Given the description of an element on the screen output the (x, y) to click on. 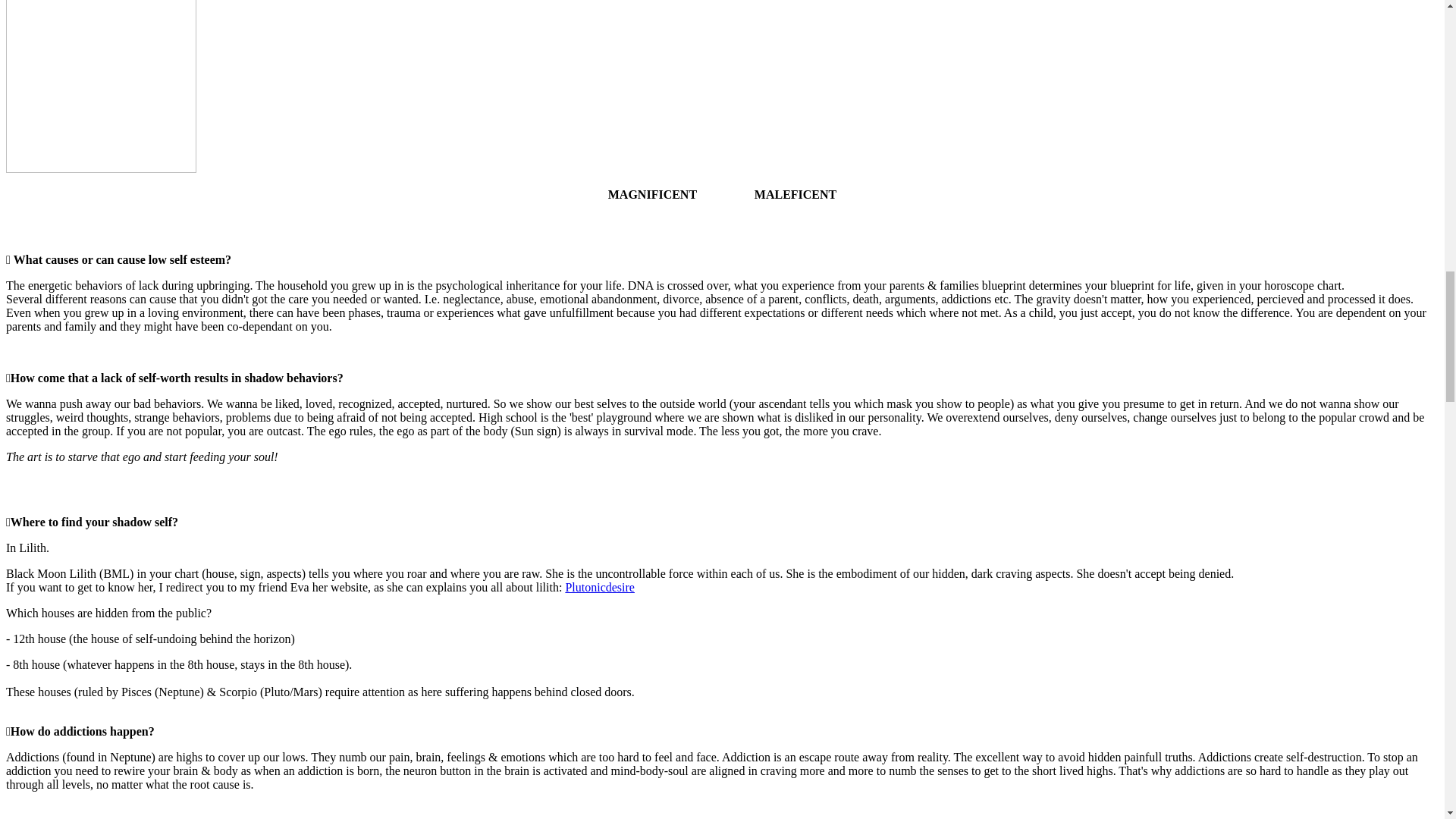
Plutonicdesire (599, 586)
